Given the description of an element on the screen output the (x, y) to click on. 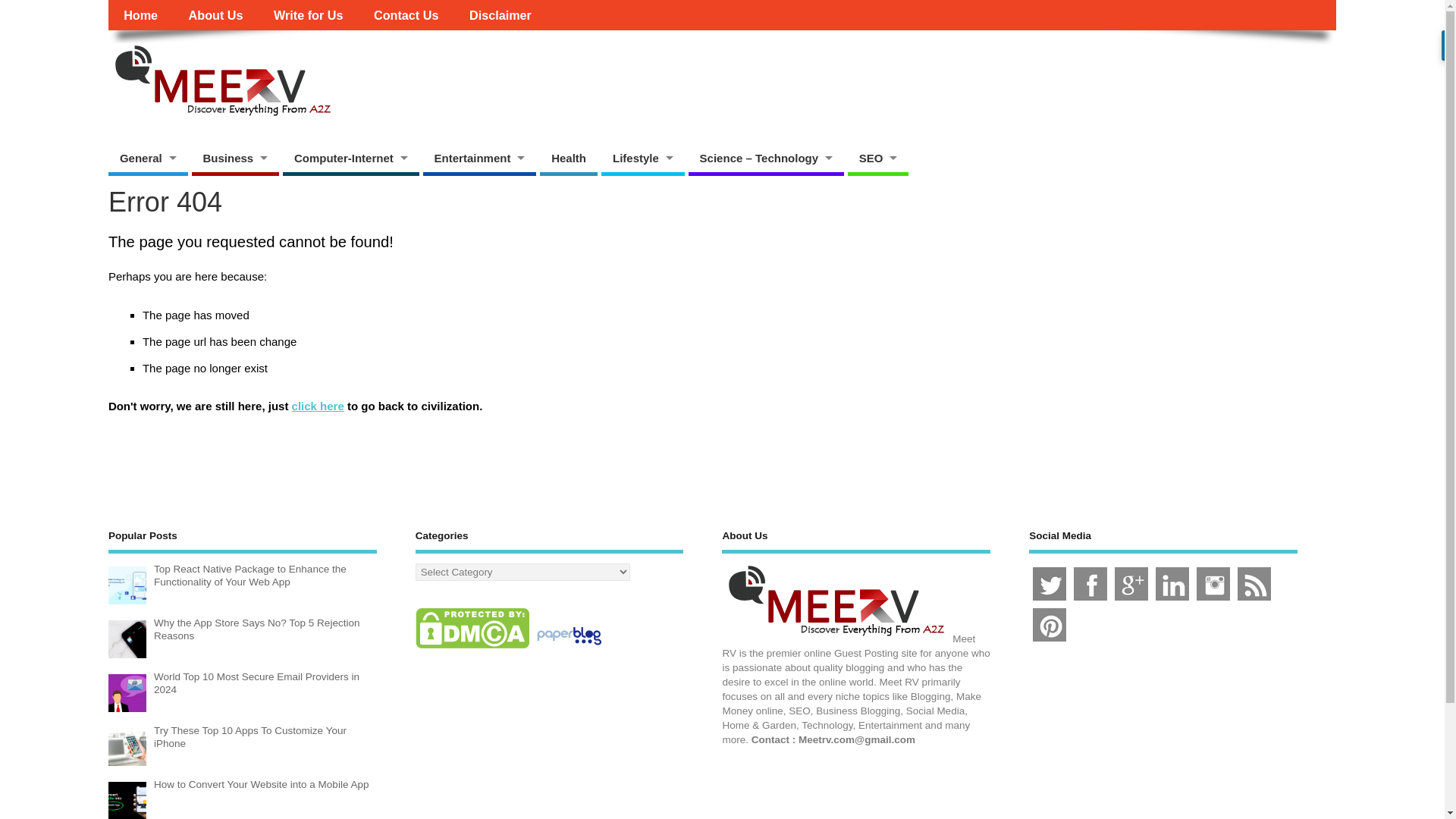
Paperblog : The best blog articles around (569, 647)
Health (568, 158)
Contact Us (406, 15)
Computer-Internet (350, 158)
Write for Us (308, 15)
Disclaimer (500, 15)
DMCA.com Protection Status (471, 647)
About Us (215, 15)
Home (140, 15)
Entertainment (480, 158)
Business (234, 158)
General (147, 158)
Lifestyle (642, 158)
